Given the description of an element on the screen output the (x, y) to click on. 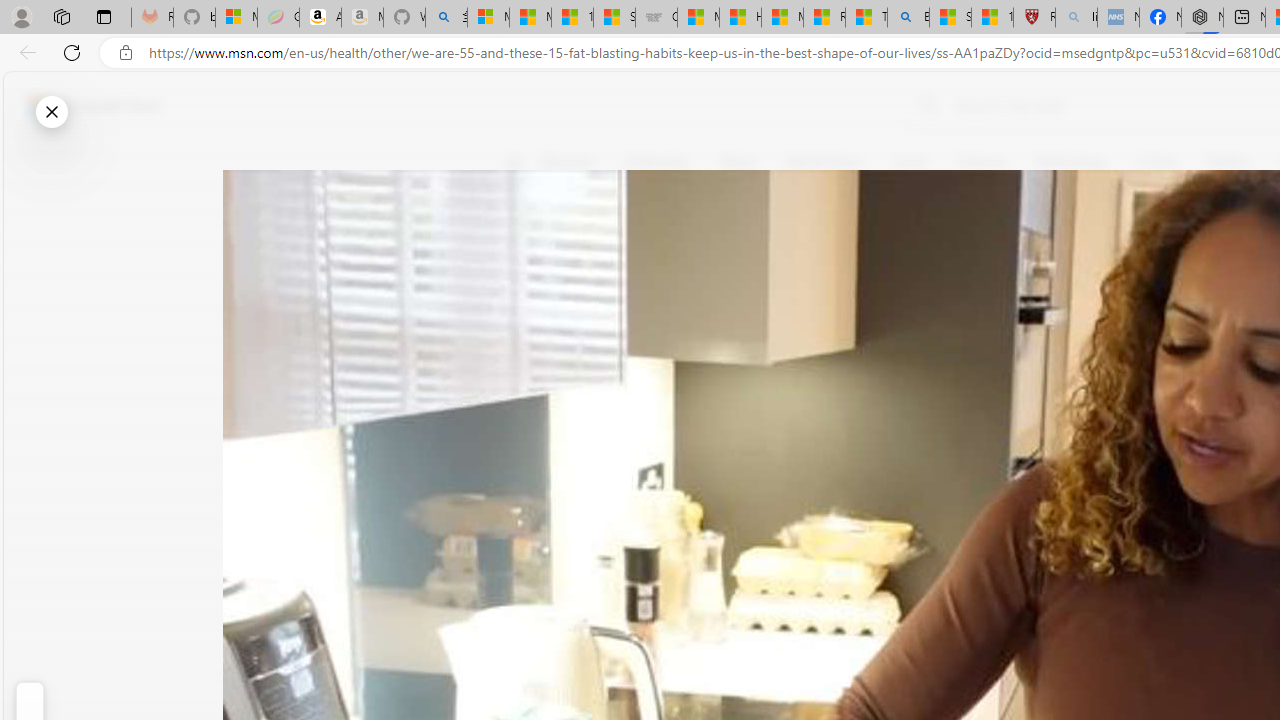
Crime (1156, 162)
Microsoft Start (781, 17)
list of asthma inhalers uk - Search - Sleeping (1076, 17)
News (738, 162)
Skip to content (86, 105)
Class: at-item (525, 468)
